Given the description of an element on the screen output the (x, y) to click on. 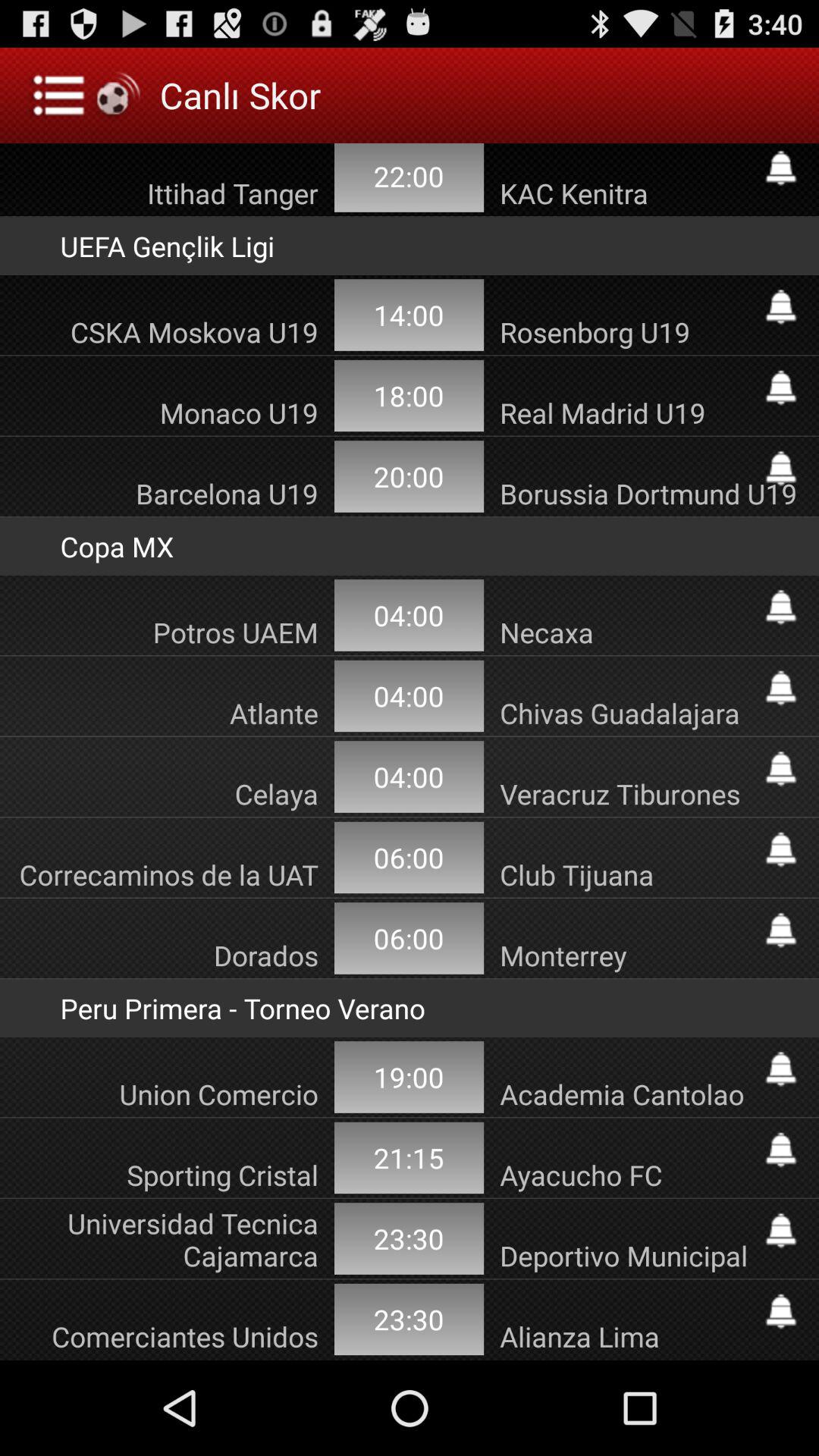
set alarm (780, 387)
